Given the description of an element on the screen output the (x, y) to click on. 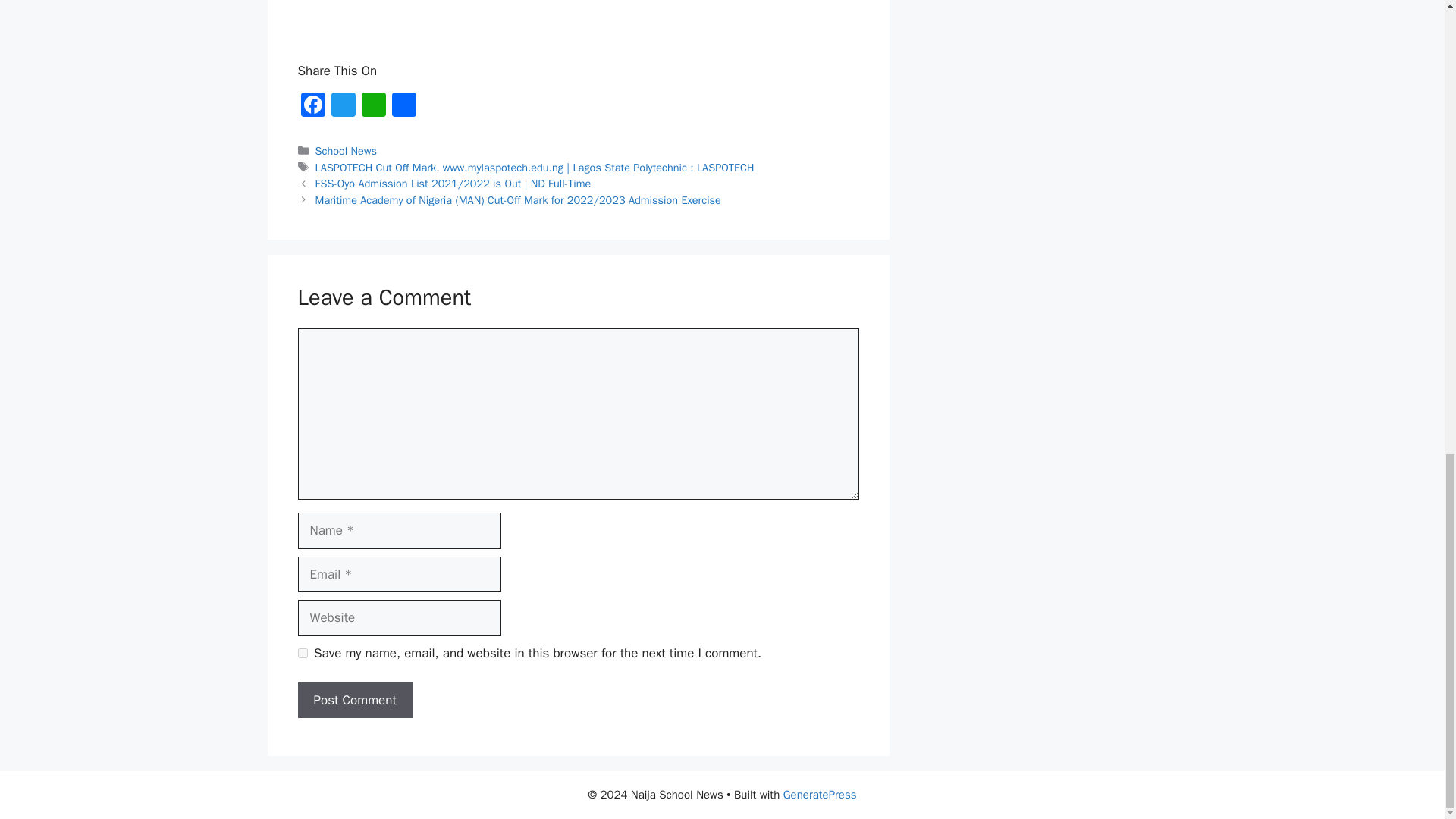
WhatsApp (373, 106)
Post Comment (354, 700)
School News (346, 151)
Facebook (312, 106)
WhatsApp (373, 106)
Twitter (342, 106)
yes (302, 653)
Twitter (342, 106)
LASPOTECH Cut Off Mark (375, 167)
Post Comment (354, 700)
Share (403, 106)
GeneratePress (820, 794)
Facebook (312, 106)
